Given the description of an element on the screen output the (x, y) to click on. 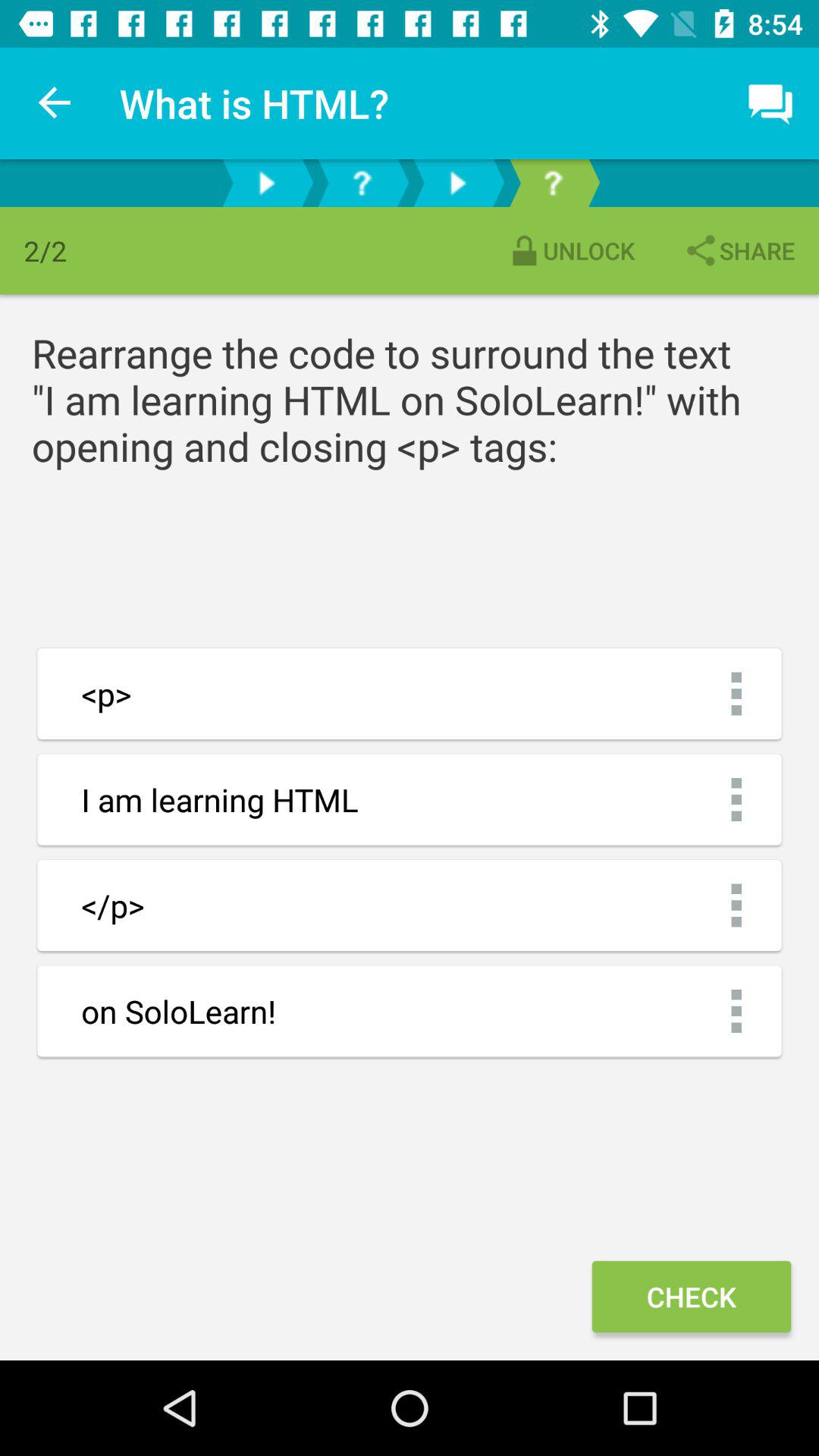
see next page (265, 183)
